Given the description of an element on the screen output the (x, y) to click on. 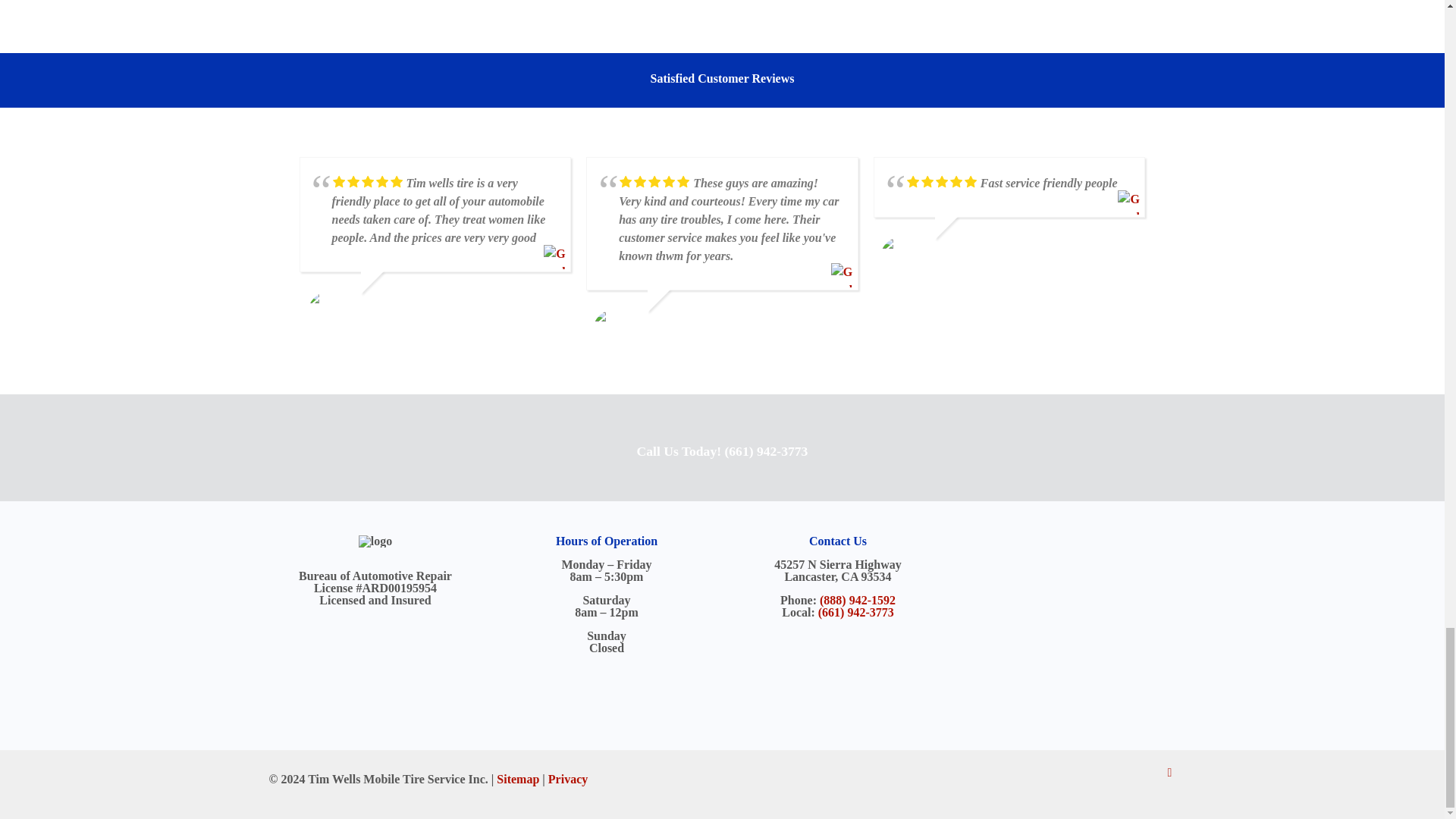
Sitemap (517, 779)
